Given the description of an element on the screen output the (x, y) to click on. 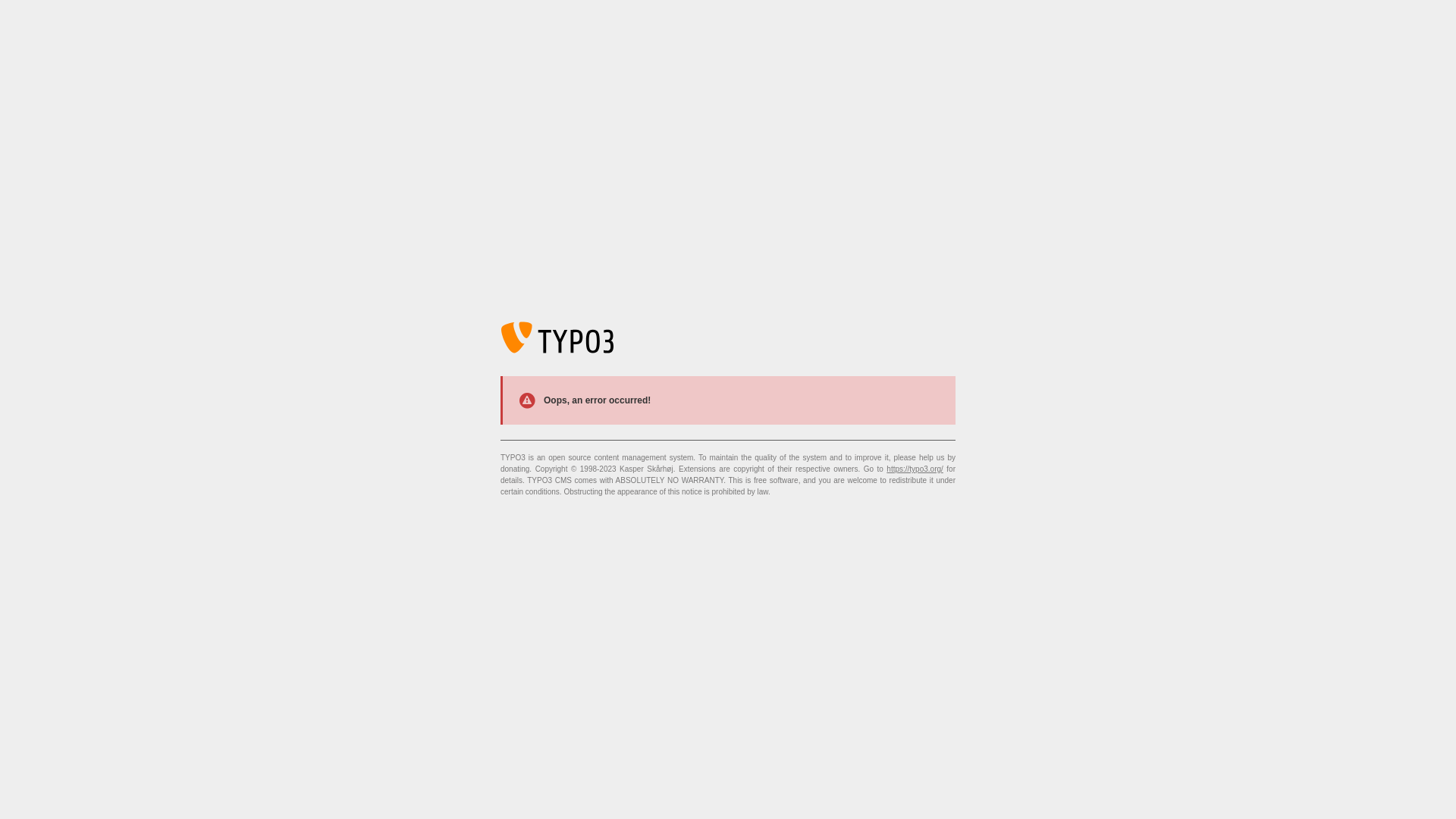
https://typo3.org/ Element type: text (914, 468)
